Given the description of an element on the screen output the (x, y) to click on. 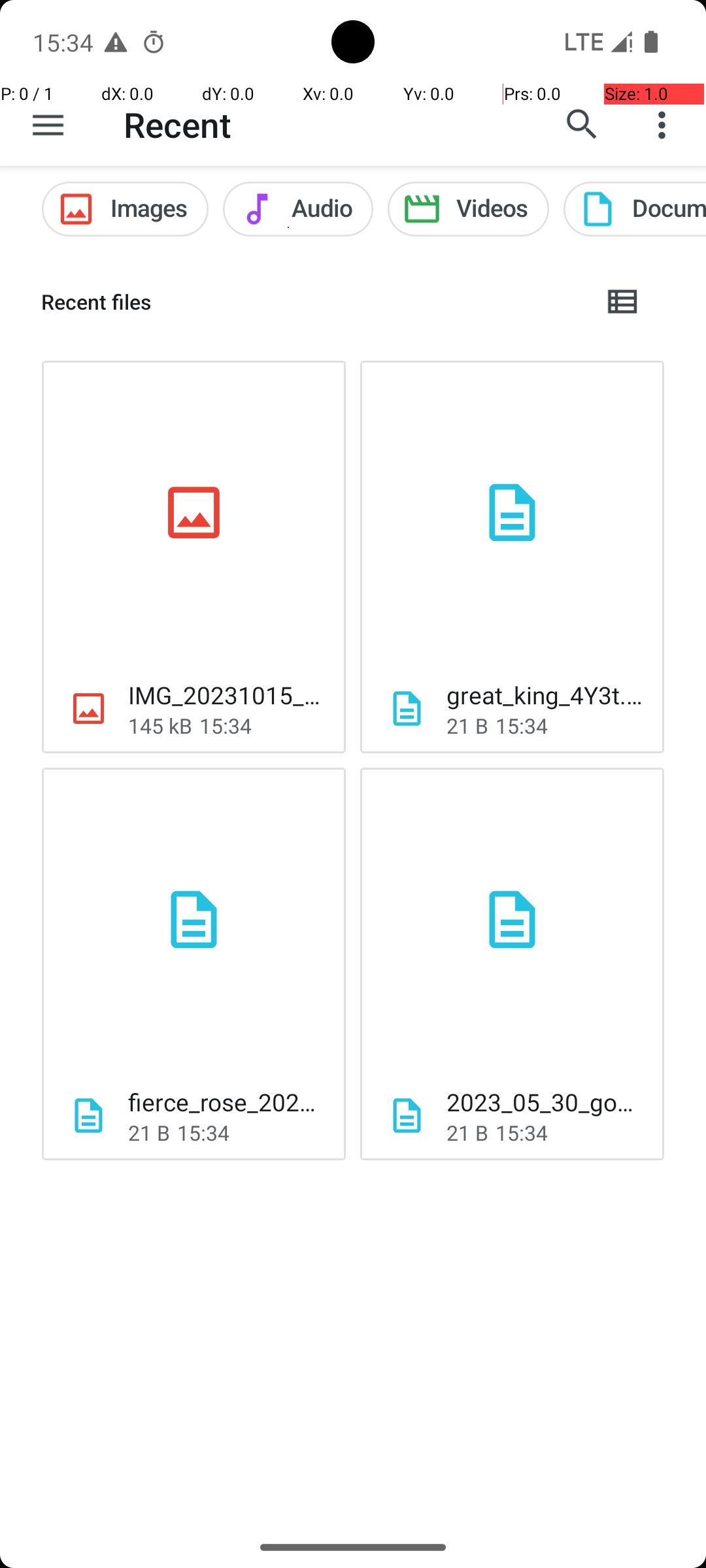
Recent files Element type: android.widget.TextView (311, 301)
IMG_20231015_153414.jpg Element type: android.widget.TextView (226, 694)
145 kB Element type: android.widget.TextView (160, 725)
great_king_4Y3t.md Element type: android.widget.TextView (544, 694)
21 B Element type: android.widget.TextView (467, 725)
fierce_rose_2023_06_21.md Element type: android.widget.TextView (226, 1101)
2023_05_30_good_jacket.txt Element type: android.widget.TextView (544, 1101)
